Given the description of an element on the screen output the (x, y) to click on. 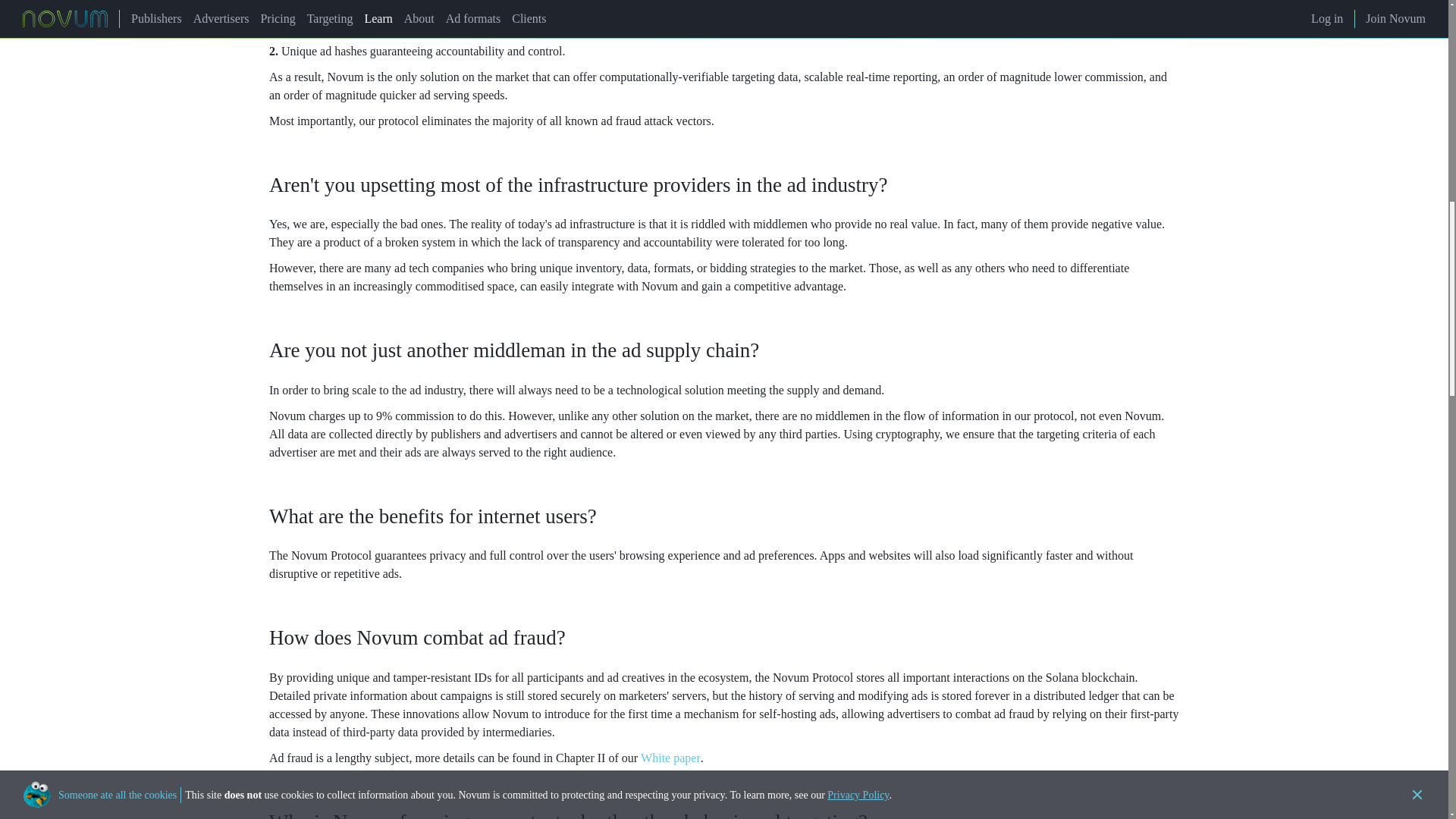
White paper (670, 757)
